Given the description of an element on the screen output the (x, y) to click on. 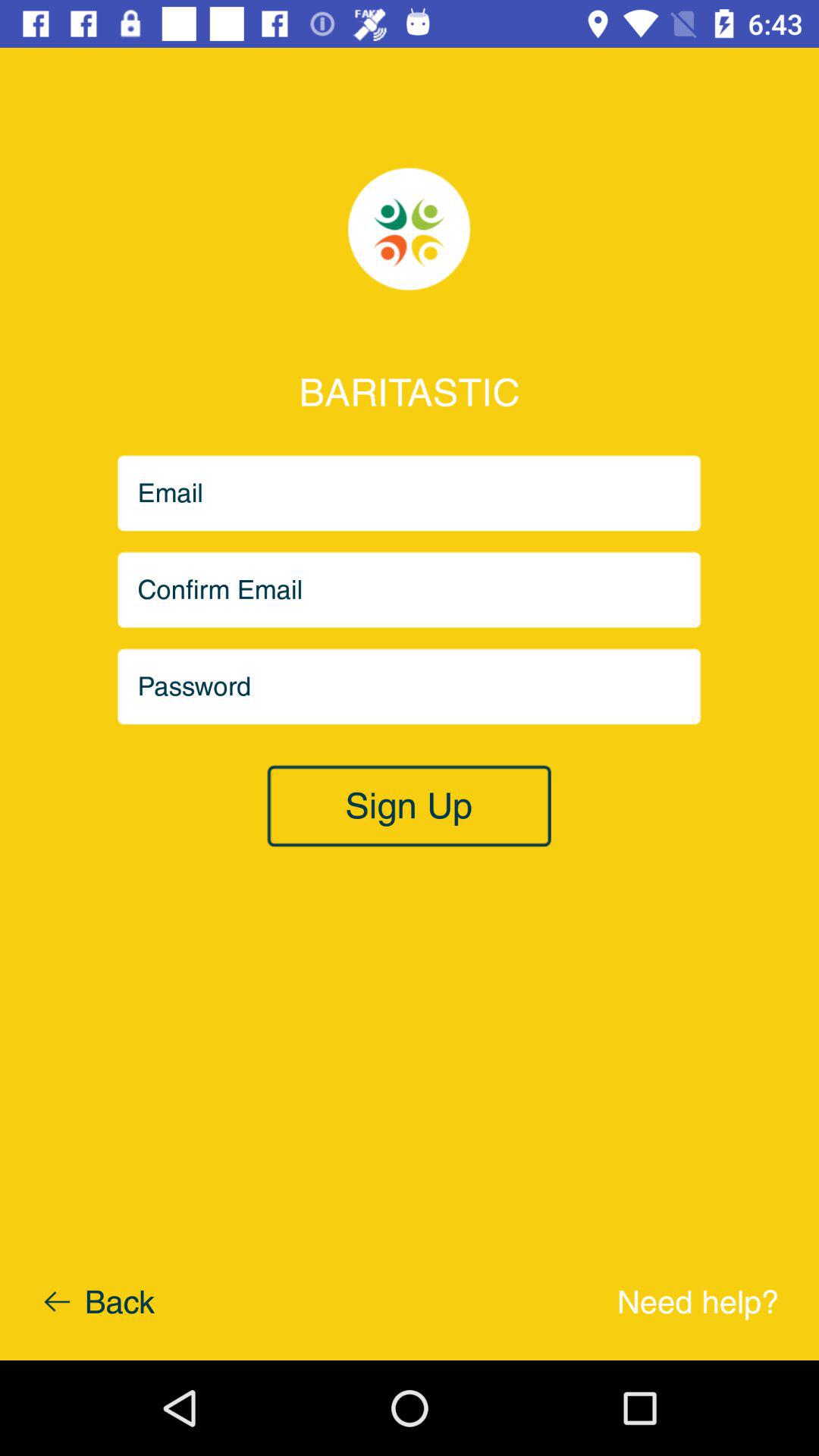
enter password (409, 686)
